Given the description of an element on the screen output the (x, y) to click on. 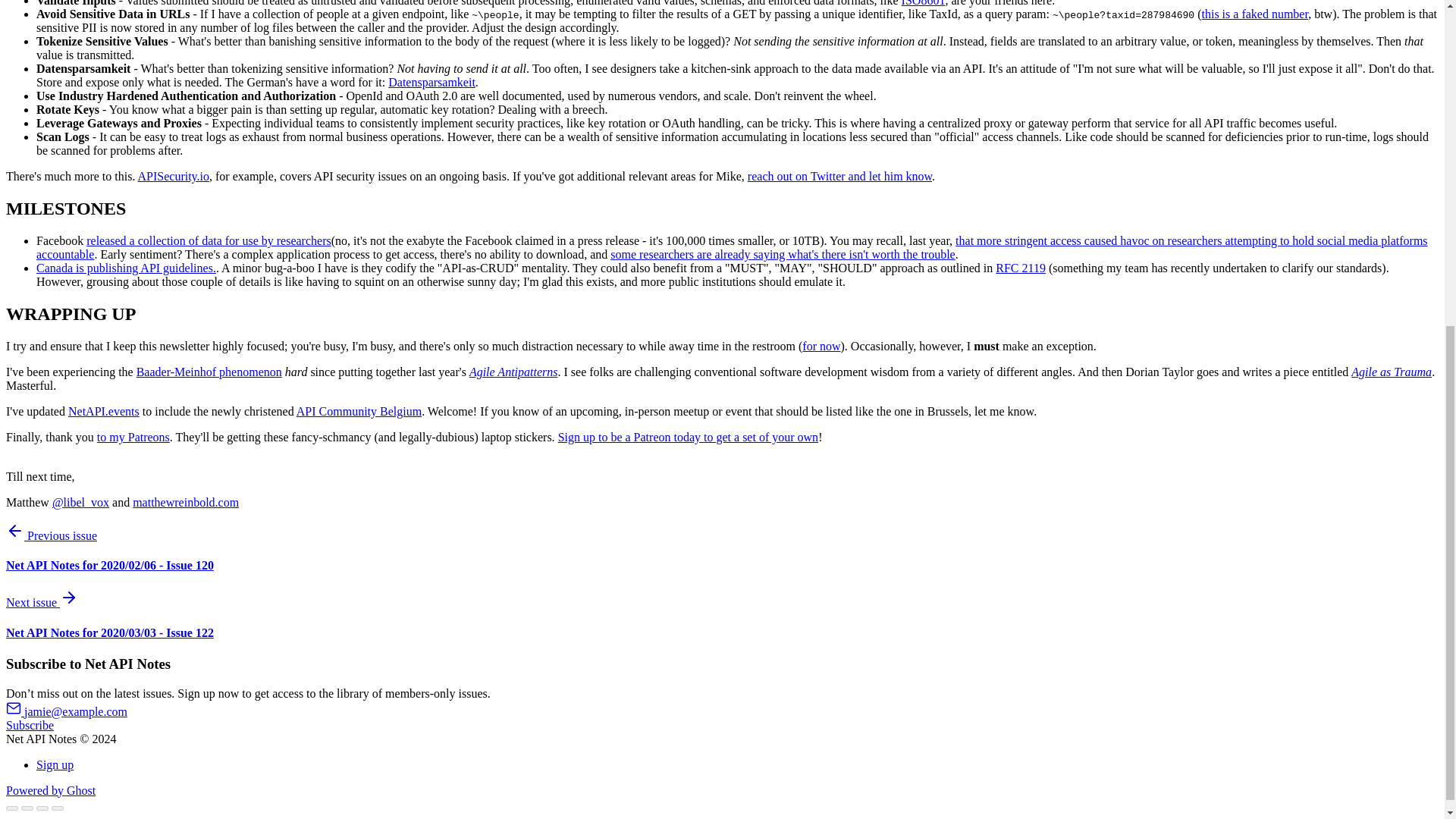
released a collection of data for use by researchers (208, 240)
Baader-Meinhof phenomenon (209, 371)
API Community Belgium (359, 410)
matthewreinbold.com (185, 502)
for now (821, 345)
ISO8601 (922, 3)
Agile as Trauma (1391, 371)
RFC 2119 (1020, 267)
Datensparsamkeit (432, 82)
NetAPI.events (103, 410)
